Given the description of an element on the screen output the (x, y) to click on. 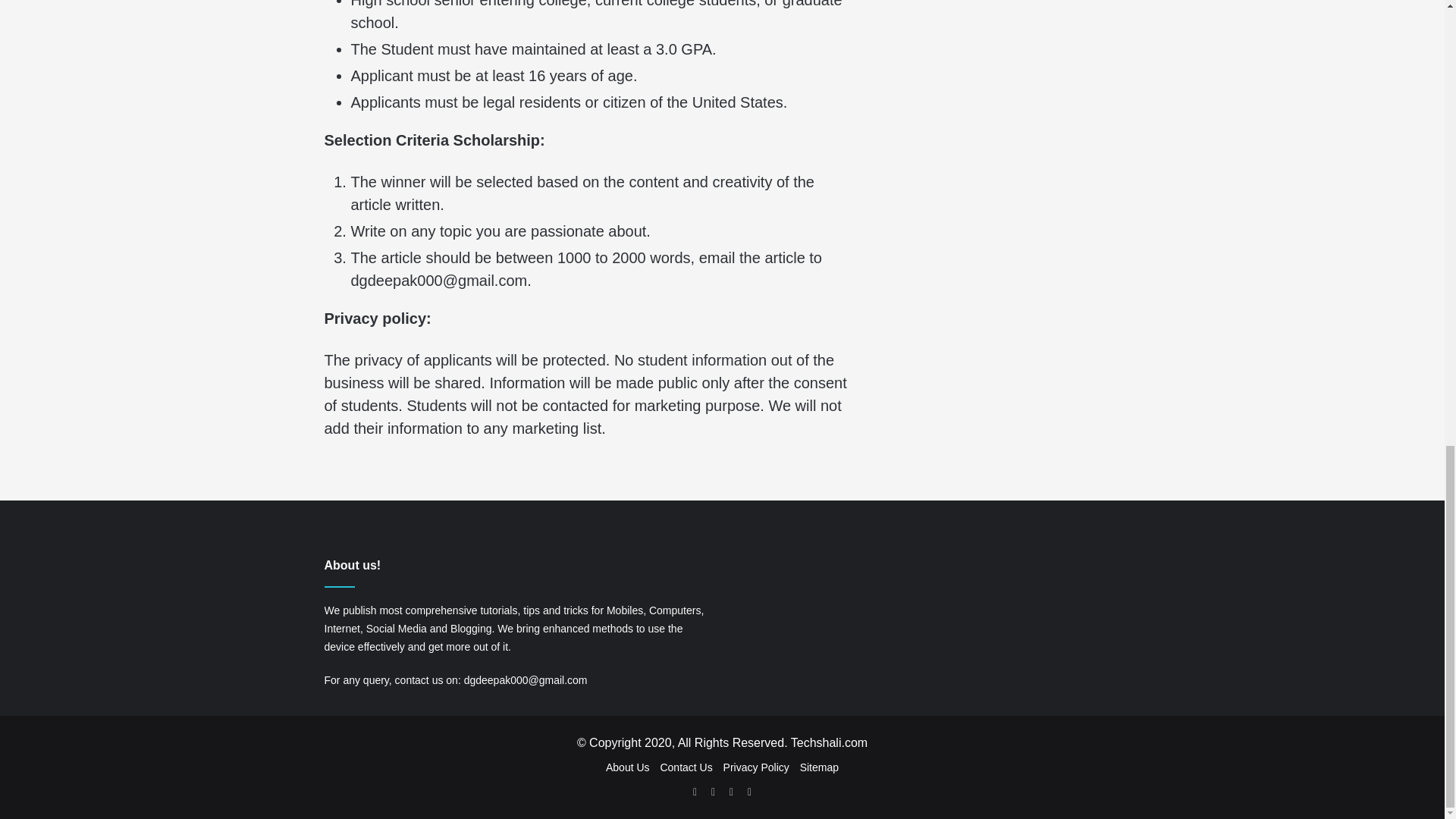
Contact Us (685, 767)
About Us (627, 767)
Pinterest (748, 791)
Twitter (730, 791)
RSS (694, 791)
Sitemap (818, 767)
Privacy Policy (756, 767)
Facebook (712, 791)
